Given the description of an element on the screen output the (x, y) to click on. 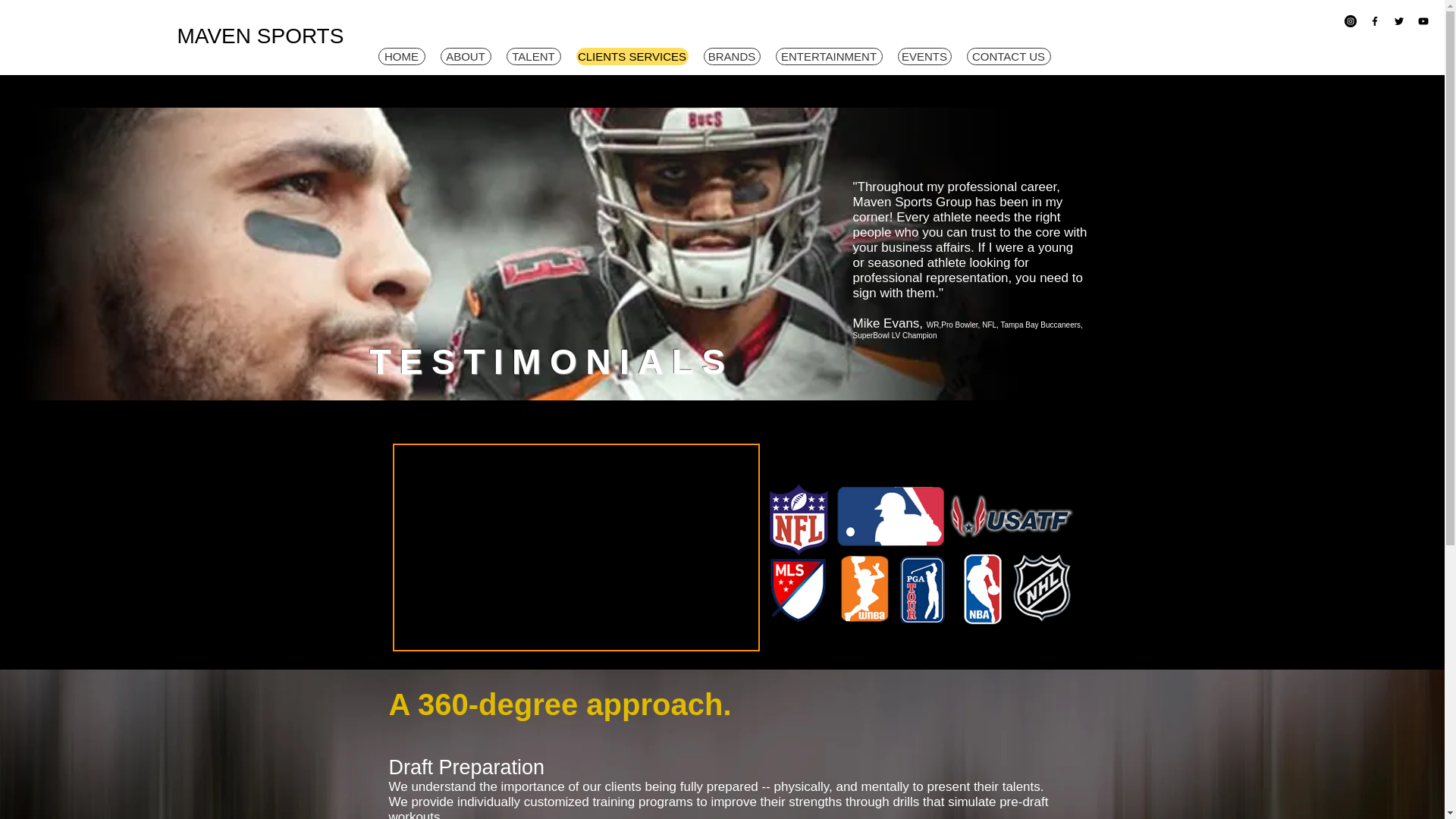
HOME (401, 56)
CLIENTS SERVICES (632, 56)
EVENTS (925, 56)
ENTERTAINMENT (828, 56)
ABOUT (464, 56)
TALENT (533, 56)
CONTACT US (1007, 56)
BRANDS (731, 56)
MAVEN SPORTS (261, 36)
